Given the description of an element on the screen output the (x, y) to click on. 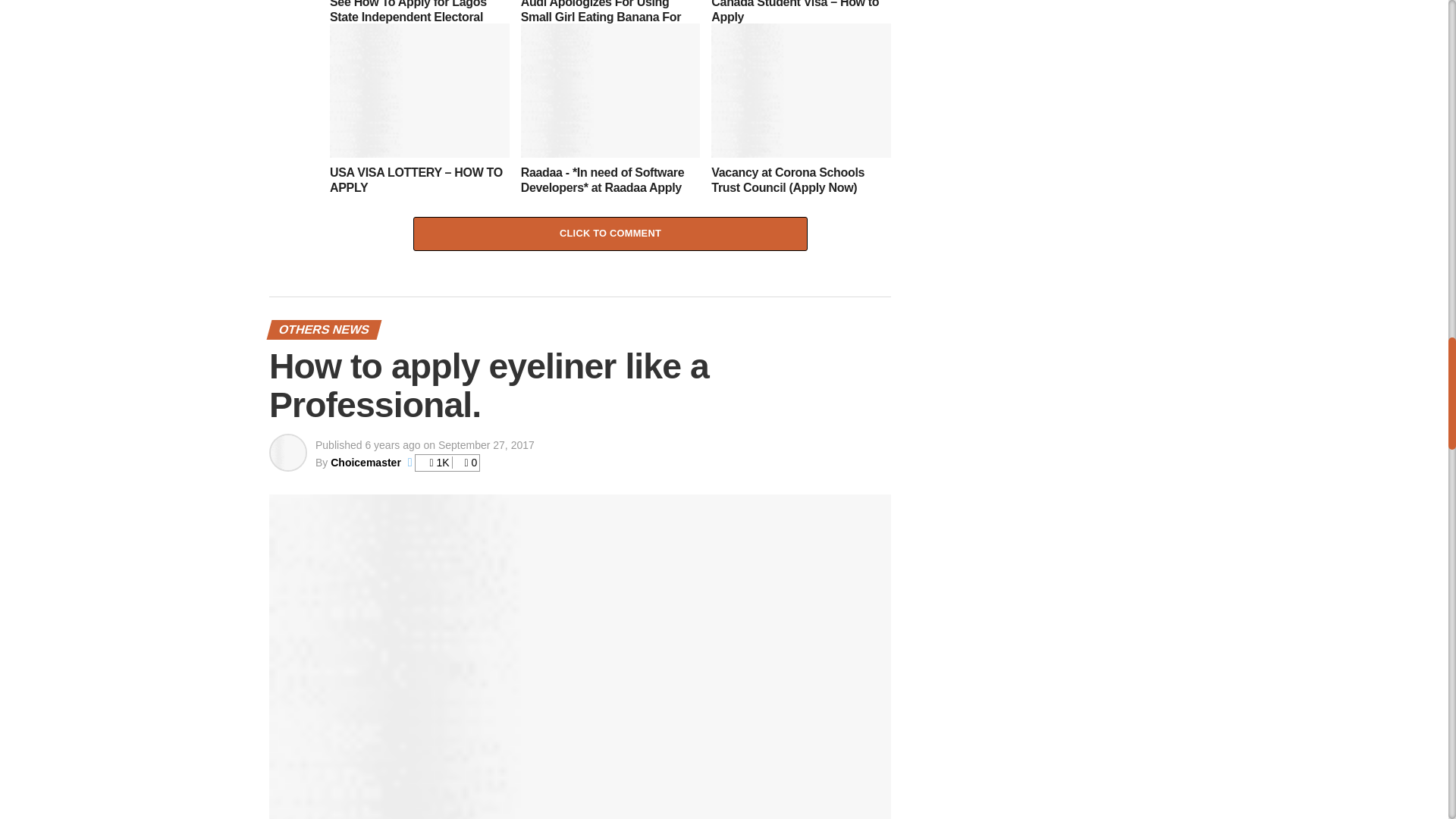
Posts by Choicemaster (365, 462)
